Given the description of an element on the screen output the (x, y) to click on. 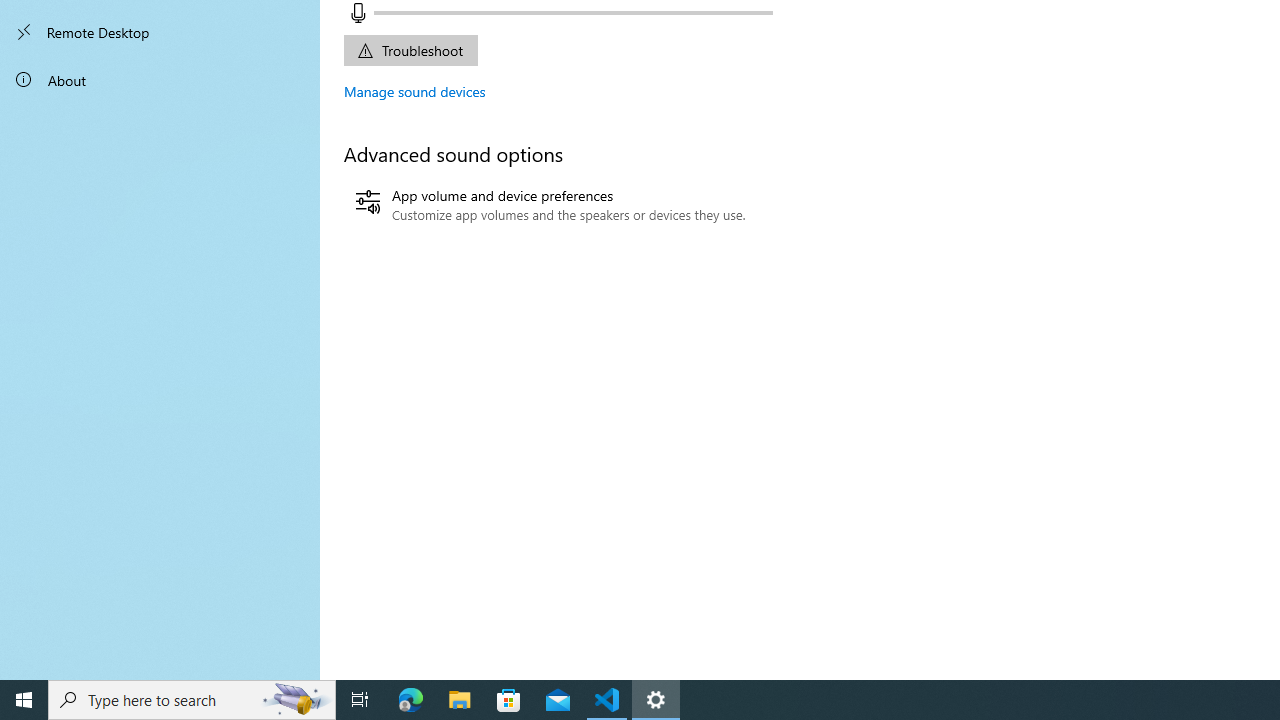
Manage sound devices (415, 91)
About (160, 79)
Microsoft Store (509, 699)
Task View (359, 699)
Remote Desktop (160, 31)
Search highlights icon opens search home window (295, 699)
Start (24, 699)
Visual Studio Code - 1 running window (607, 699)
Settings - 1 running window (656, 699)
App volume and device preferences (550, 205)
Microsoft Edge (411, 699)
Input device troubleshoot (410, 50)
Type here to search (191, 699)
File Explorer (460, 699)
